Given the description of an element on the screen output the (x, y) to click on. 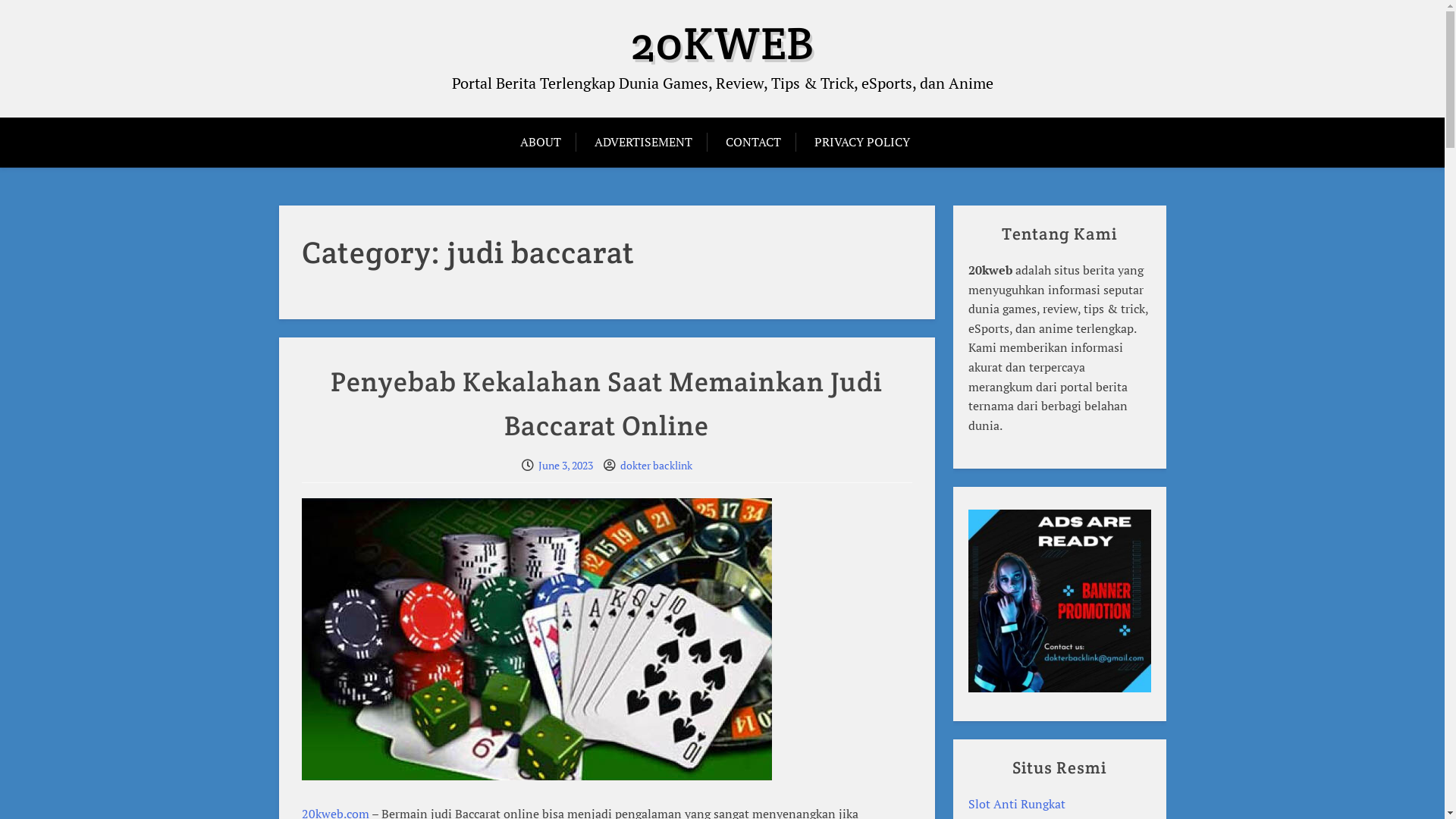
Penyebab Kekalahan Saat Memainkan Judi Baccarat Online Element type: text (606, 403)
CONTACT Element type: text (752, 142)
June 3, 2023 Element type: text (565, 465)
dokter backlink Element type: text (656, 465)
PRIVACY POLICY Element type: text (862, 142)
20KWEB Element type: text (721, 43)
ADVERTISEMENT Element type: text (643, 142)
ABOUT Element type: text (548, 142)
Slot Anti Rungkat Element type: text (1016, 803)
